Given the description of an element on the screen output the (x, y) to click on. 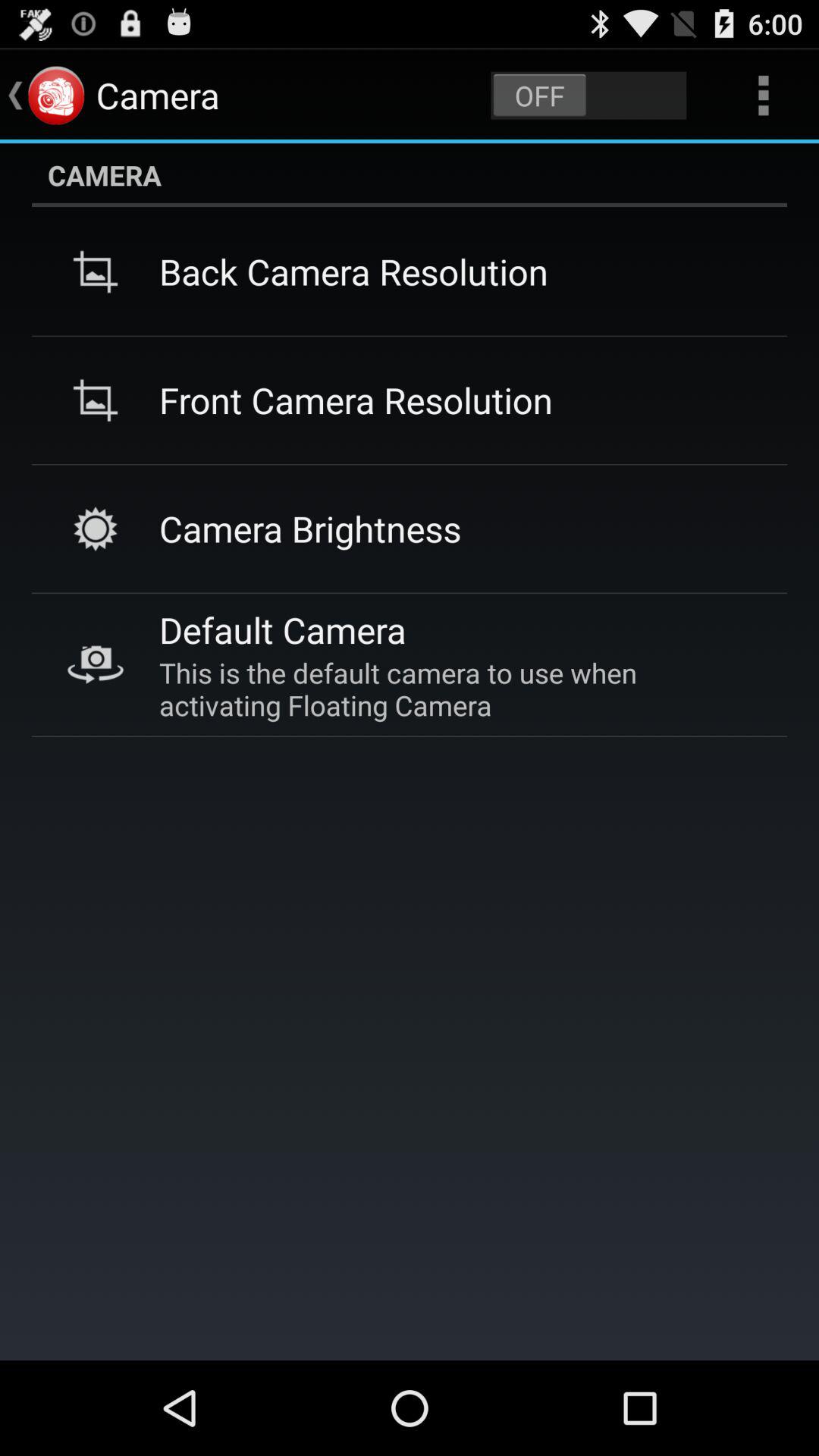
turn on camera (588, 95)
